Given the description of an element on the screen output the (x, y) to click on. 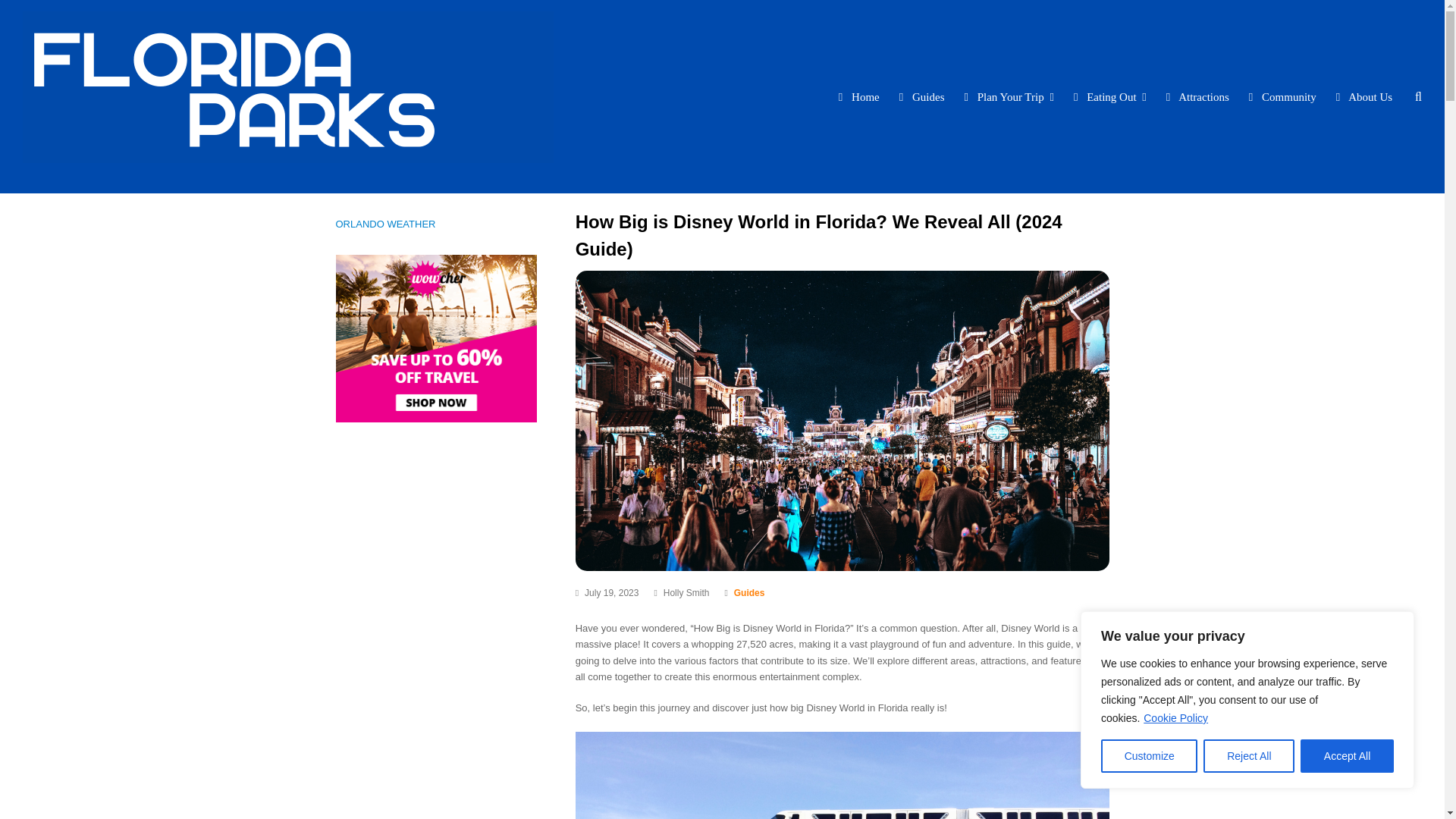
Guides (749, 593)
Guides (923, 95)
Plan Your Trip (1009, 95)
Customize (1148, 756)
Community (1283, 95)
Accept All (1346, 756)
Cookie Policy (1175, 717)
Home (860, 95)
Attractions (1198, 95)
Guides (749, 593)
